Given the description of an element on the screen output the (x, y) to click on. 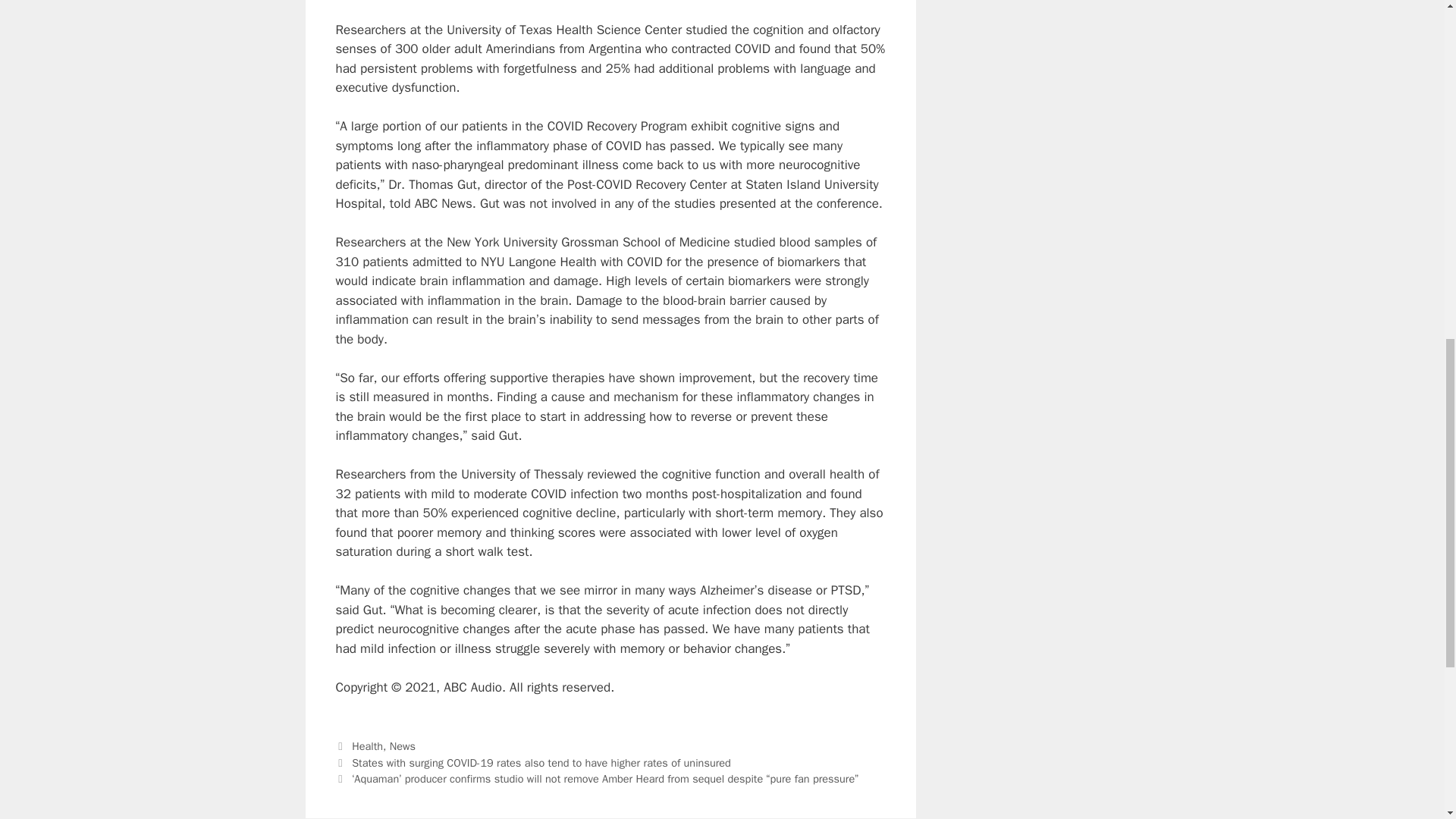
News (402, 745)
Health (367, 745)
